Given the description of an element on the screen output the (x, y) to click on. 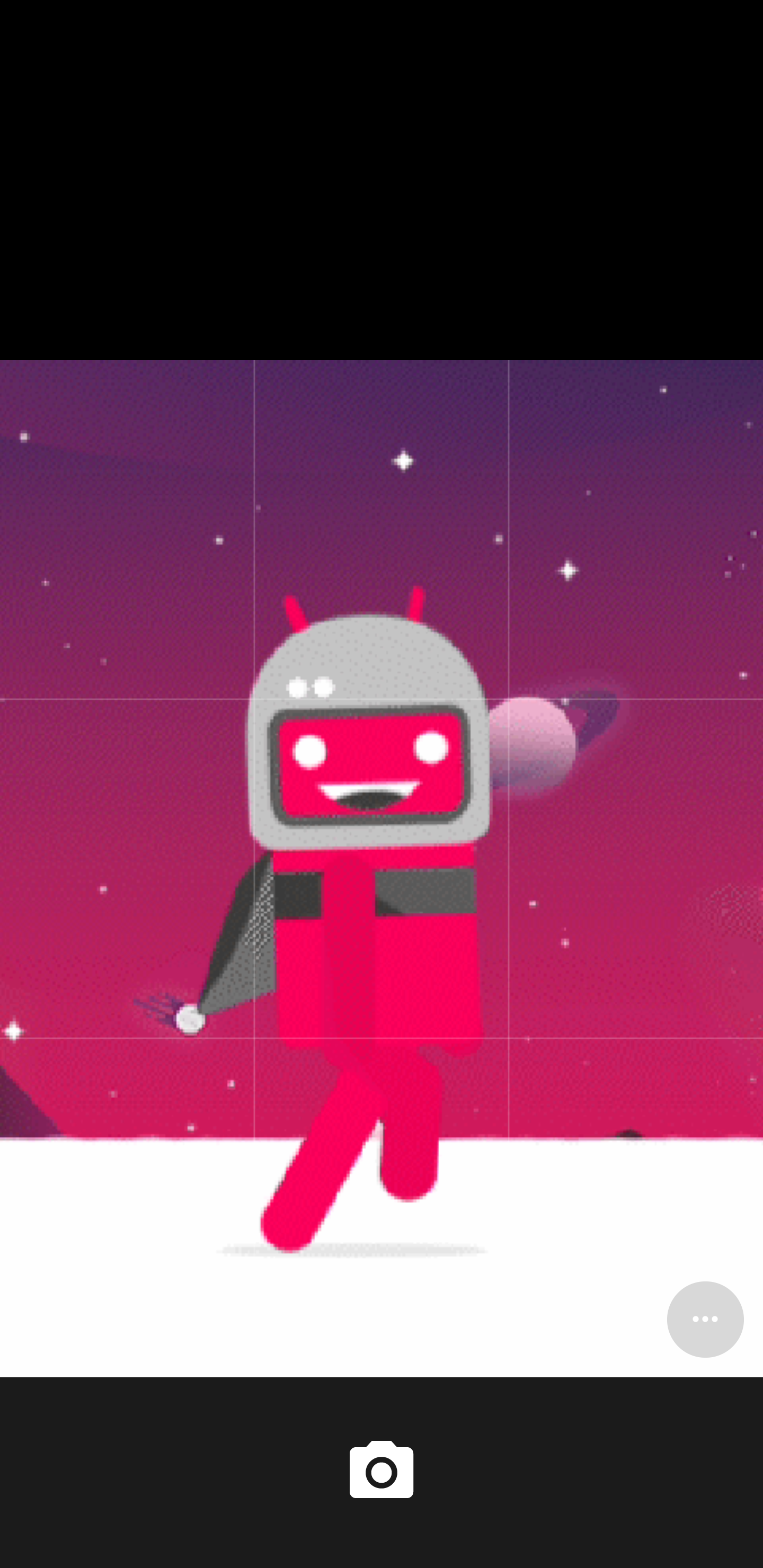
Options (704, 1319)
Shutter (381, 1472)
